Given the description of an element on the screen output the (x, y) to click on. 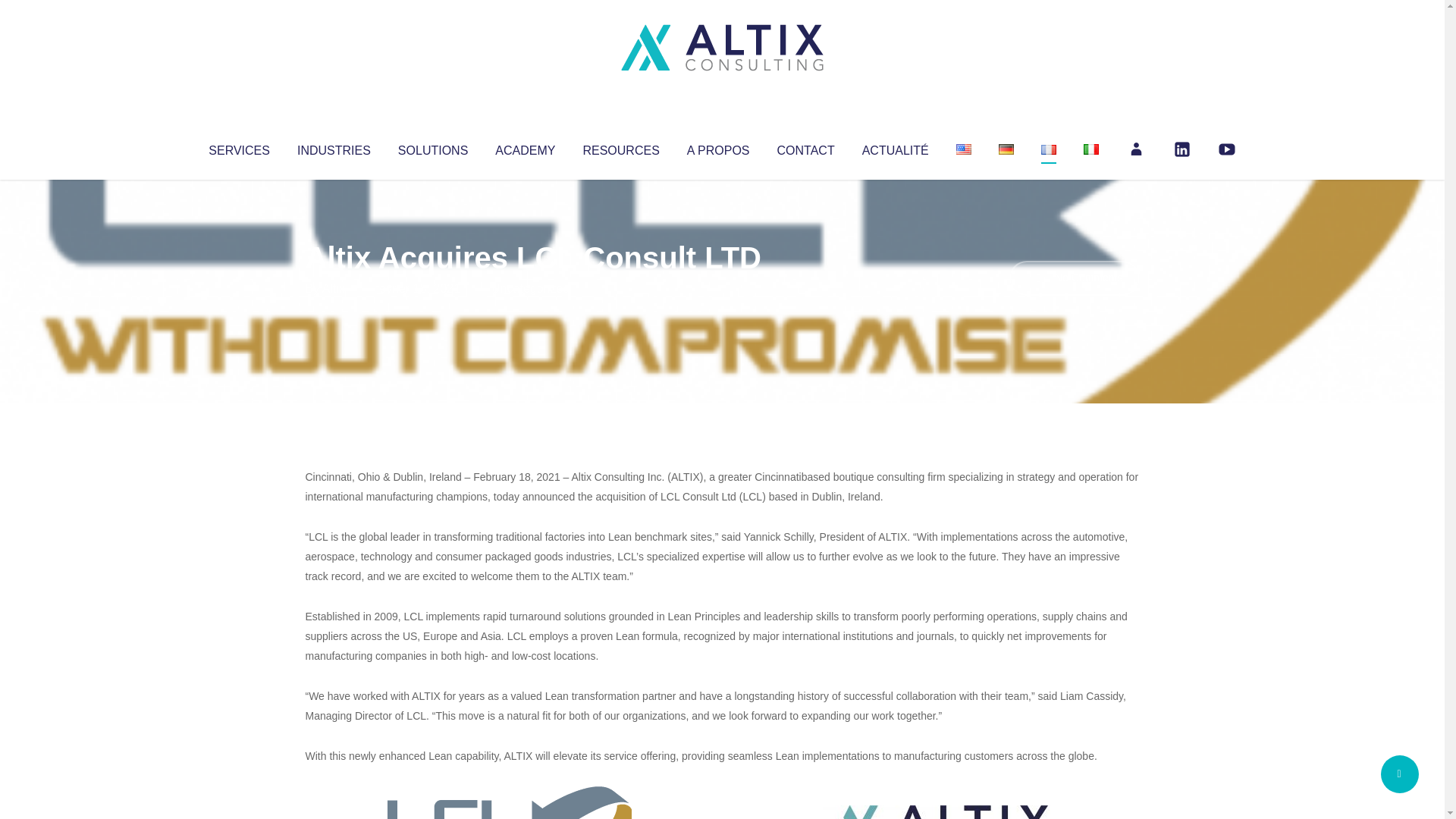
No Comments (1073, 278)
ACADEMY (524, 146)
RESOURCES (620, 146)
SERVICES (238, 146)
INDUSTRIES (334, 146)
A PROPOS (718, 146)
Articles par Altix (333, 287)
SOLUTIONS (432, 146)
Altix (333, 287)
Uncategorized (530, 287)
